Given the description of an element on the screen output the (x, y) to click on. 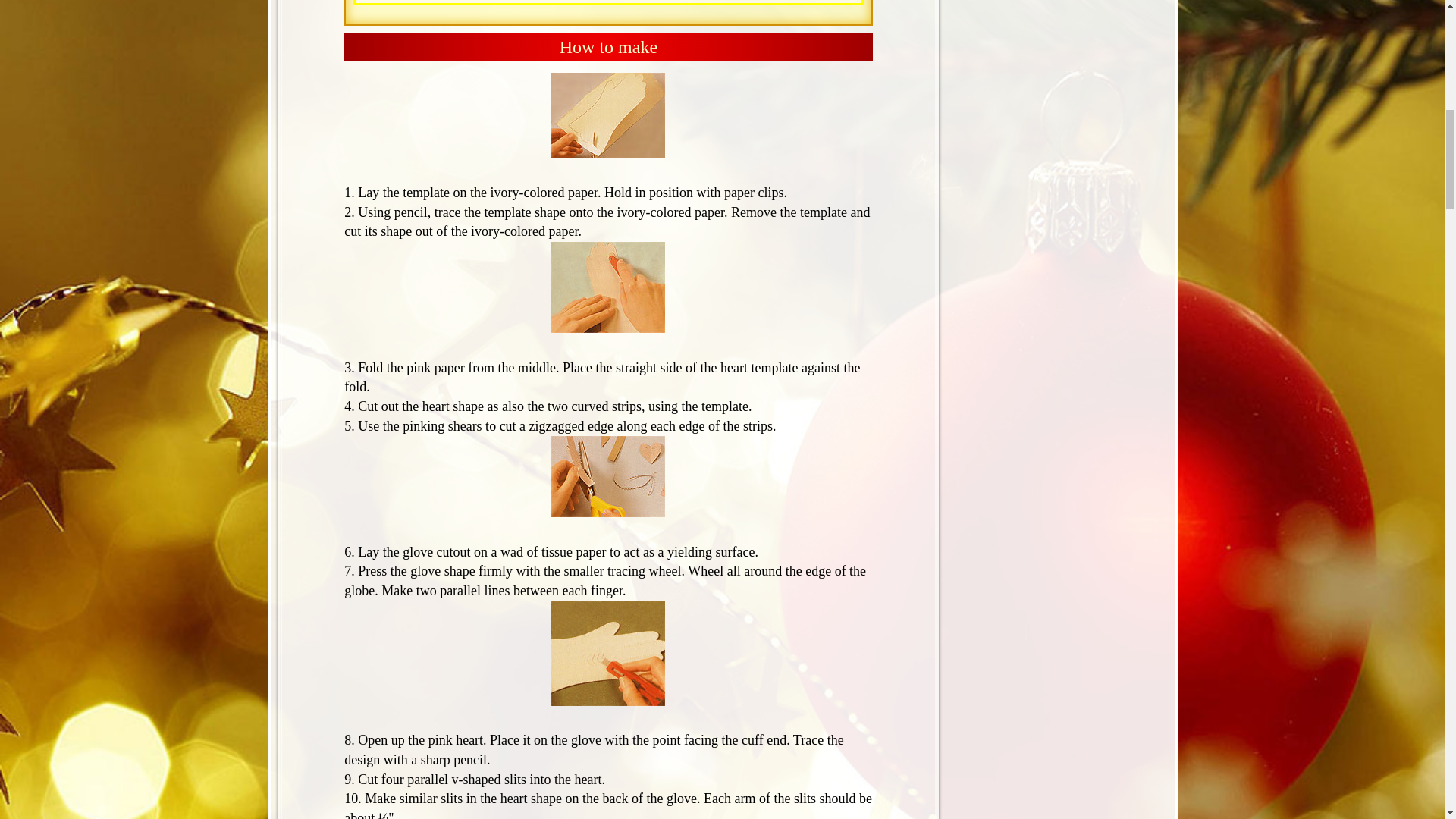
picture 4 (608, 653)
picture 3 (608, 475)
picture 2 (608, 286)
picture 1 (608, 115)
